Given the description of an element on the screen output the (x, y) to click on. 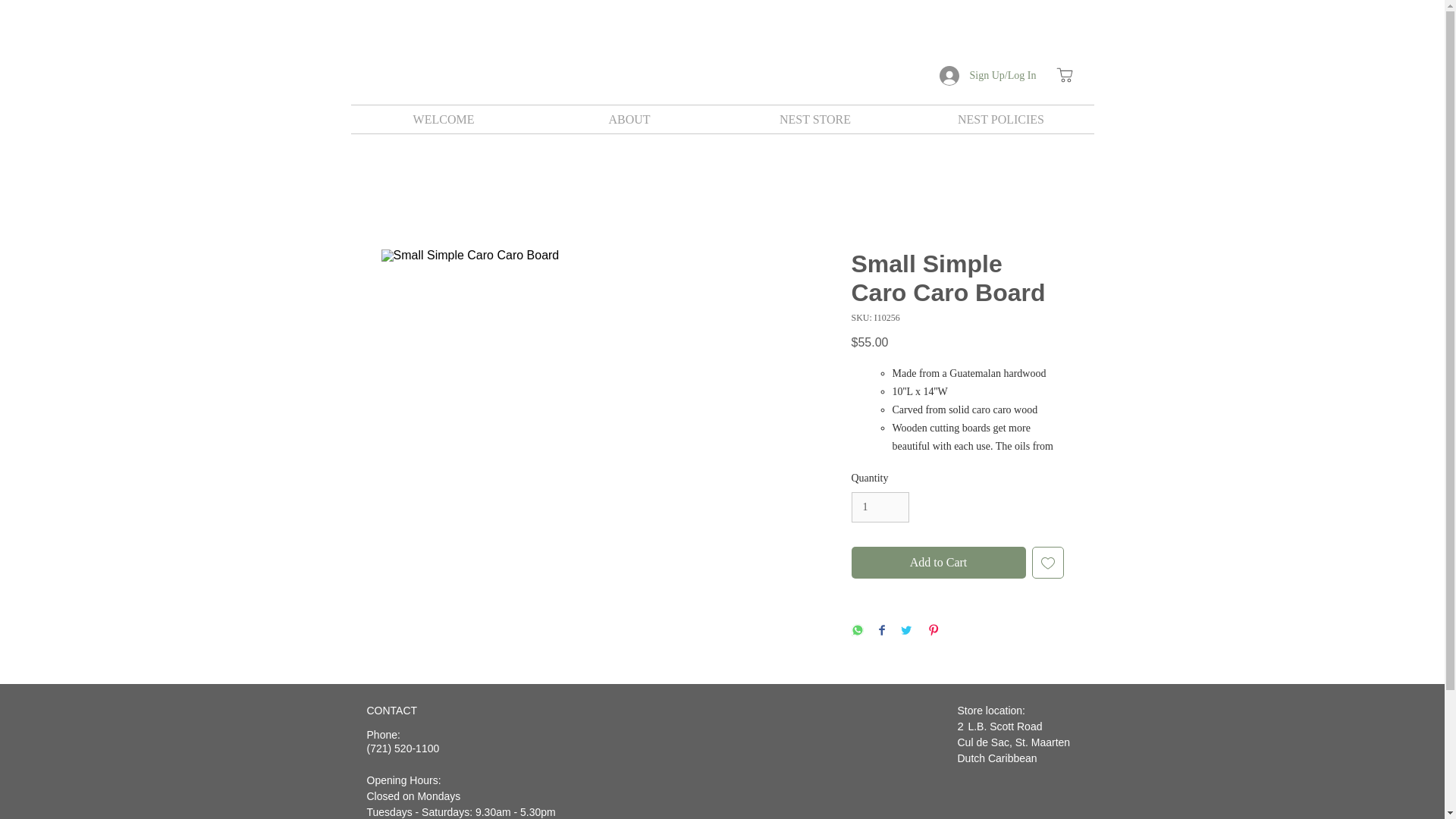
NEST POLICIES (1001, 119)
ABOUT (629, 119)
WELCOME (442, 119)
Add to Cart (937, 562)
1 (879, 507)
NEST STORE (814, 119)
